Given the description of an element on the screen output the (x, y) to click on. 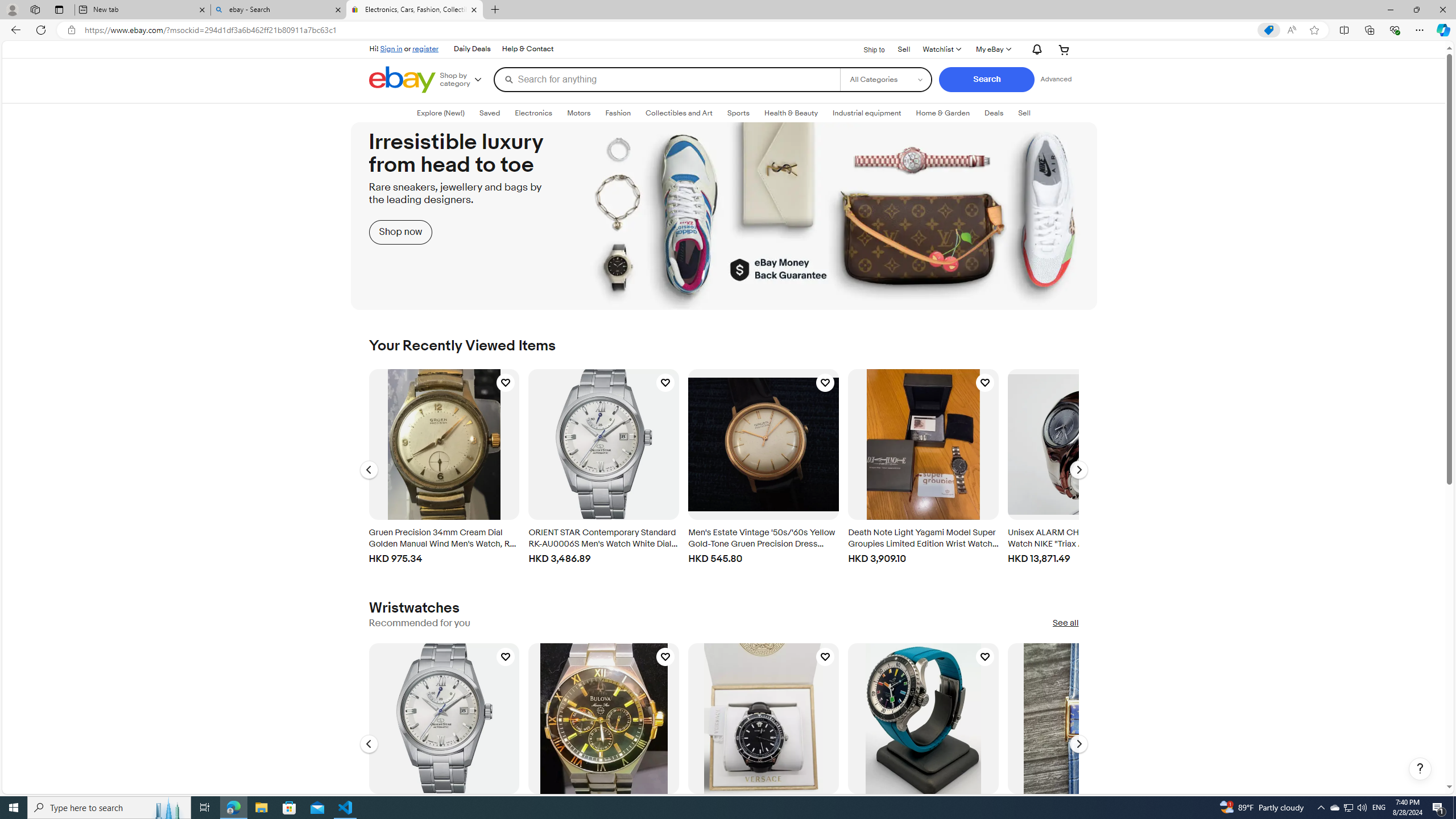
Advanced Search (1056, 78)
Electronics (534, 112)
eBay Home (401, 79)
Class: vl-flyout-nav__js-tab (1024, 112)
Search for anything (666, 78)
